Given the description of an element on the screen output the (x, y) to click on. 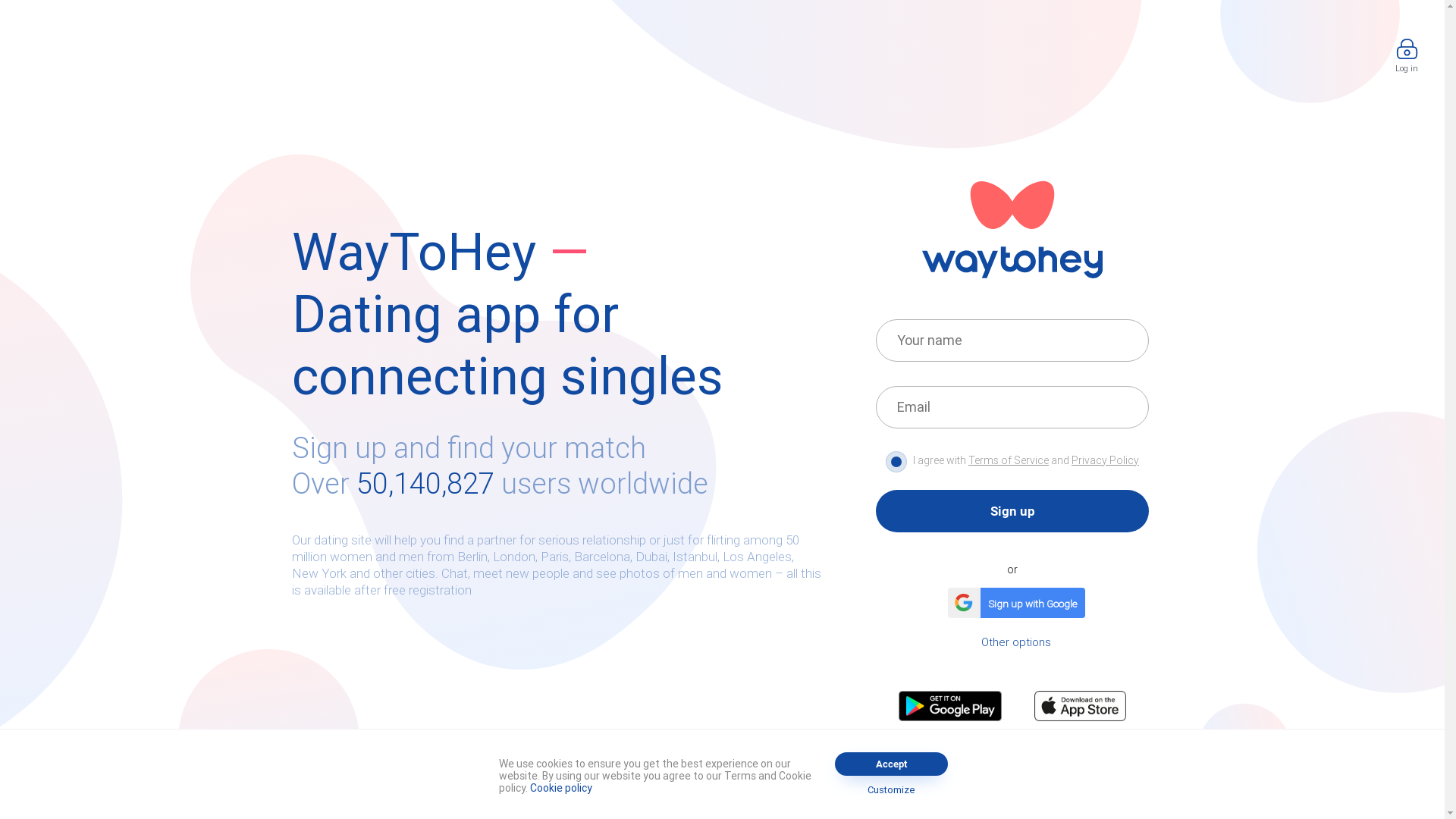
Sign up with Google Element type: text (1012, 602)
50,140,827 Element type: text (425, 483)
Customize Element type: text (890, 789)
About us Element type: text (765, 772)
Other options Element type: text (1016, 641)
Accept Element type: text (890, 763)
Privacy Policy Element type: text (1105, 460)
ngrxh9z0va Element type: text (106, 16)
Cookie policy Element type: text (561, 787)
Terms of Service Element type: text (1008, 460)
Sign up Element type: text (1011, 510)
Support Element type: text (710, 772)
